Given the description of an element on the screen output the (x, y) to click on. 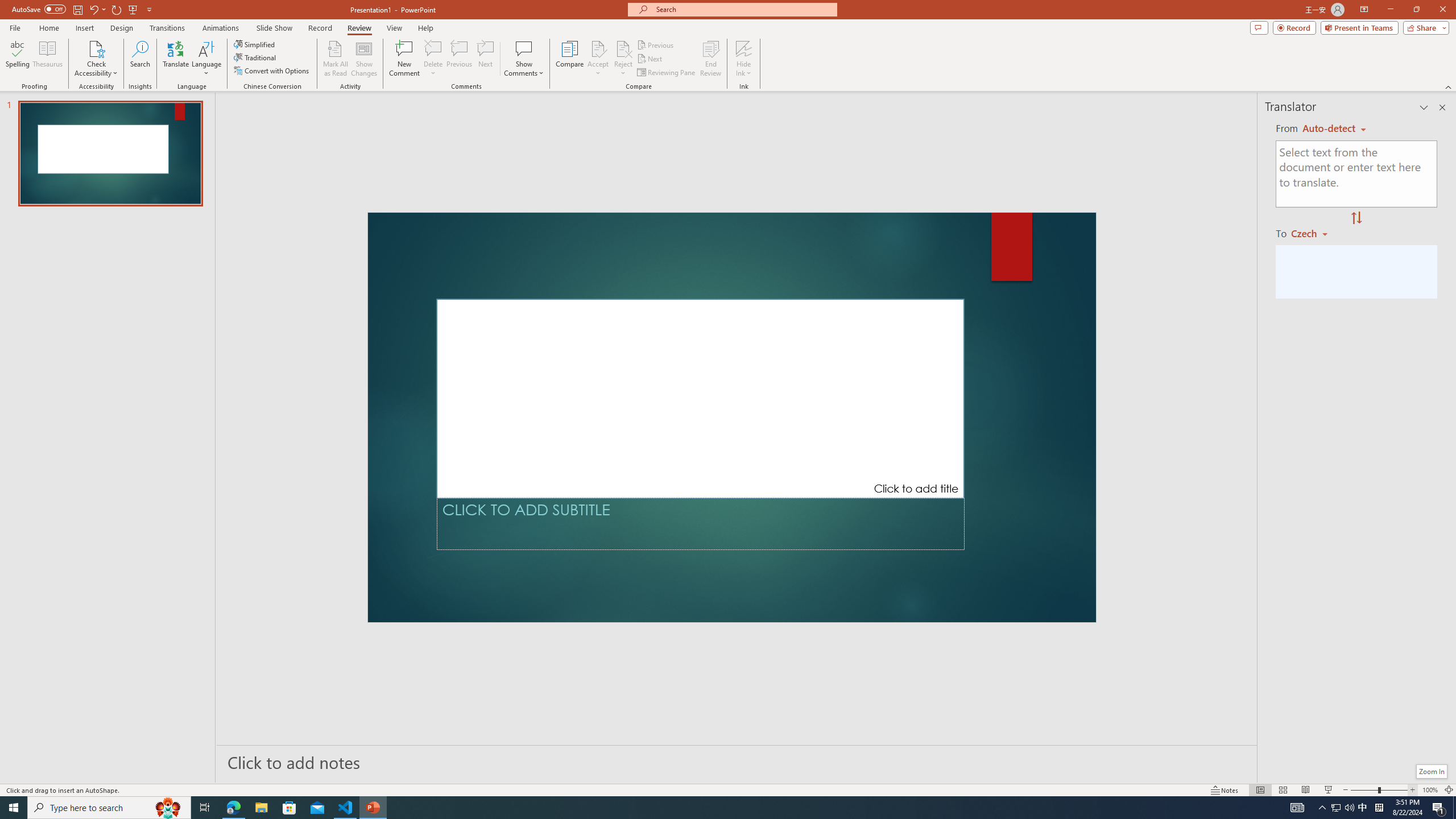
Zoom (1379, 790)
Slide Notes (737, 761)
Title TextBox (699, 398)
Save (77, 9)
Insert (83, 28)
Record (320, 28)
Zoom Out (1364, 790)
Reviewing Pane (666, 72)
Zoom 100% (1430, 790)
Close (1442, 9)
Animations (220, 28)
Comments (1259, 27)
Share (1423, 27)
AutoSave (38, 9)
Undo (96, 9)
